Given the description of an element on the screen output the (x, y) to click on. 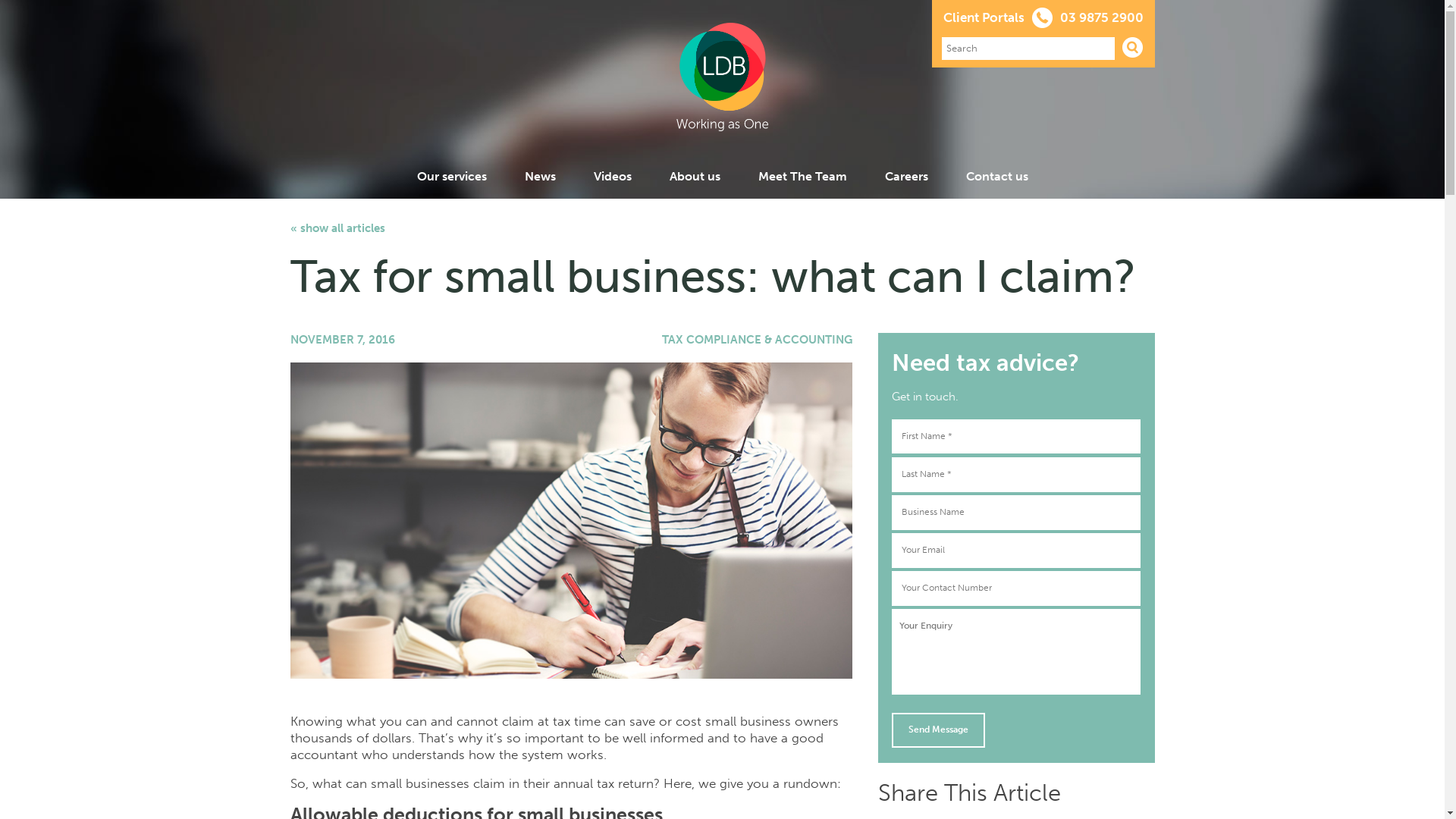
Search Element type: text (1132, 47)
Our services Element type: text (451, 176)
Videos Element type: text (611, 176)
Contact us Element type: text (997, 176)
News Element type: text (539, 176)
About us Element type: text (693, 176)
Meet The Team Element type: text (802, 176)
Search for: Element type: hover (1027, 48)
TAX COMPLIANCE & ACCOUNTING Element type: text (756, 339)
Send Message Element type: text (938, 729)
Careers Element type: text (905, 176)
